Given the description of an element on the screen output the (x, y) to click on. 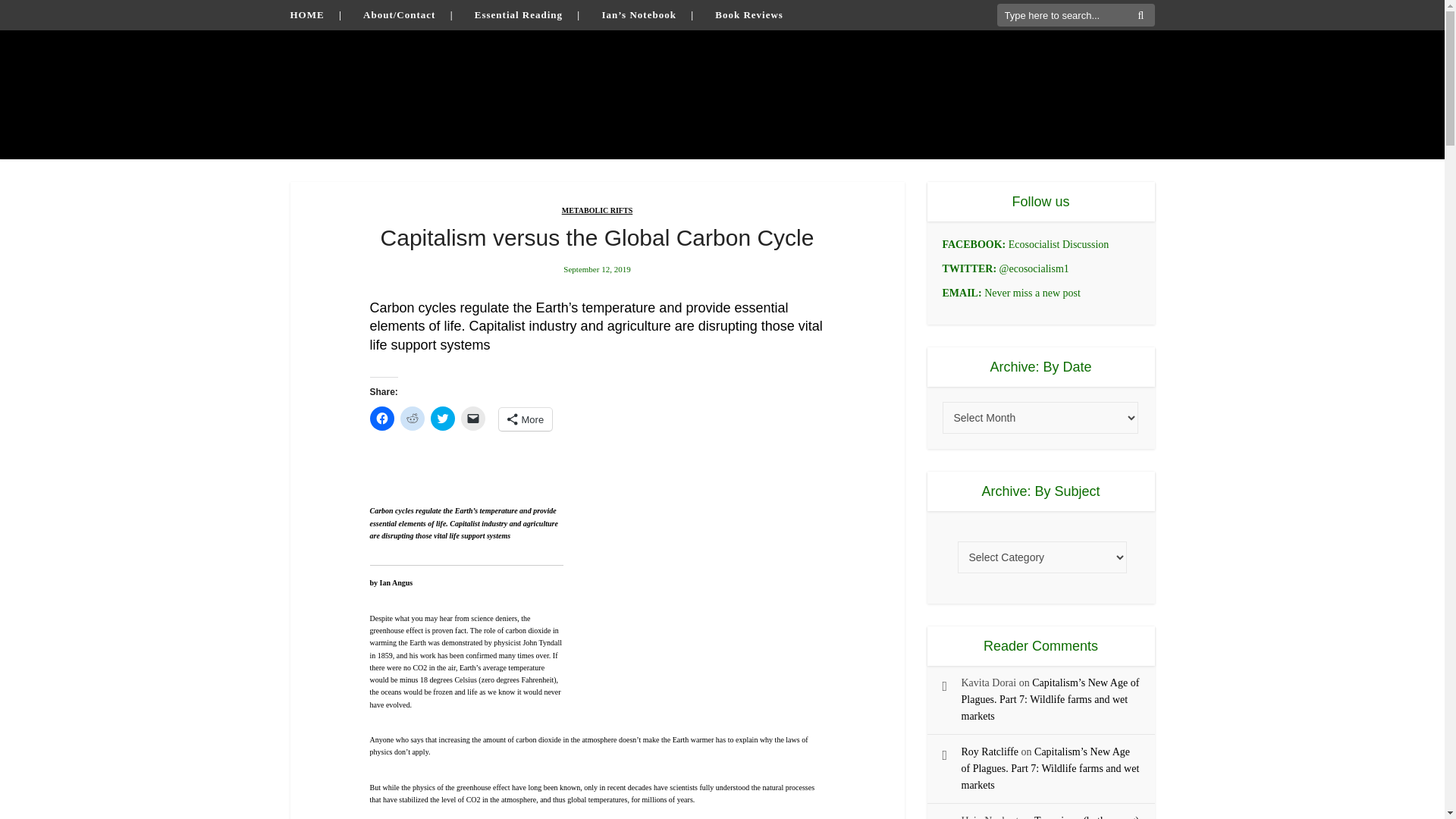
Click to email a link to a friend (472, 418)
Type here to search... (1074, 15)
Essential Reading (518, 14)
Click to share on Reddit (412, 418)
Click to share on Facebook (381, 418)
Type here to search... (1074, 15)
HOME (306, 14)
Click to share on Twitter (442, 418)
Book Reviews (748, 14)
More (526, 418)
